Given the description of an element on the screen output the (x, y) to click on. 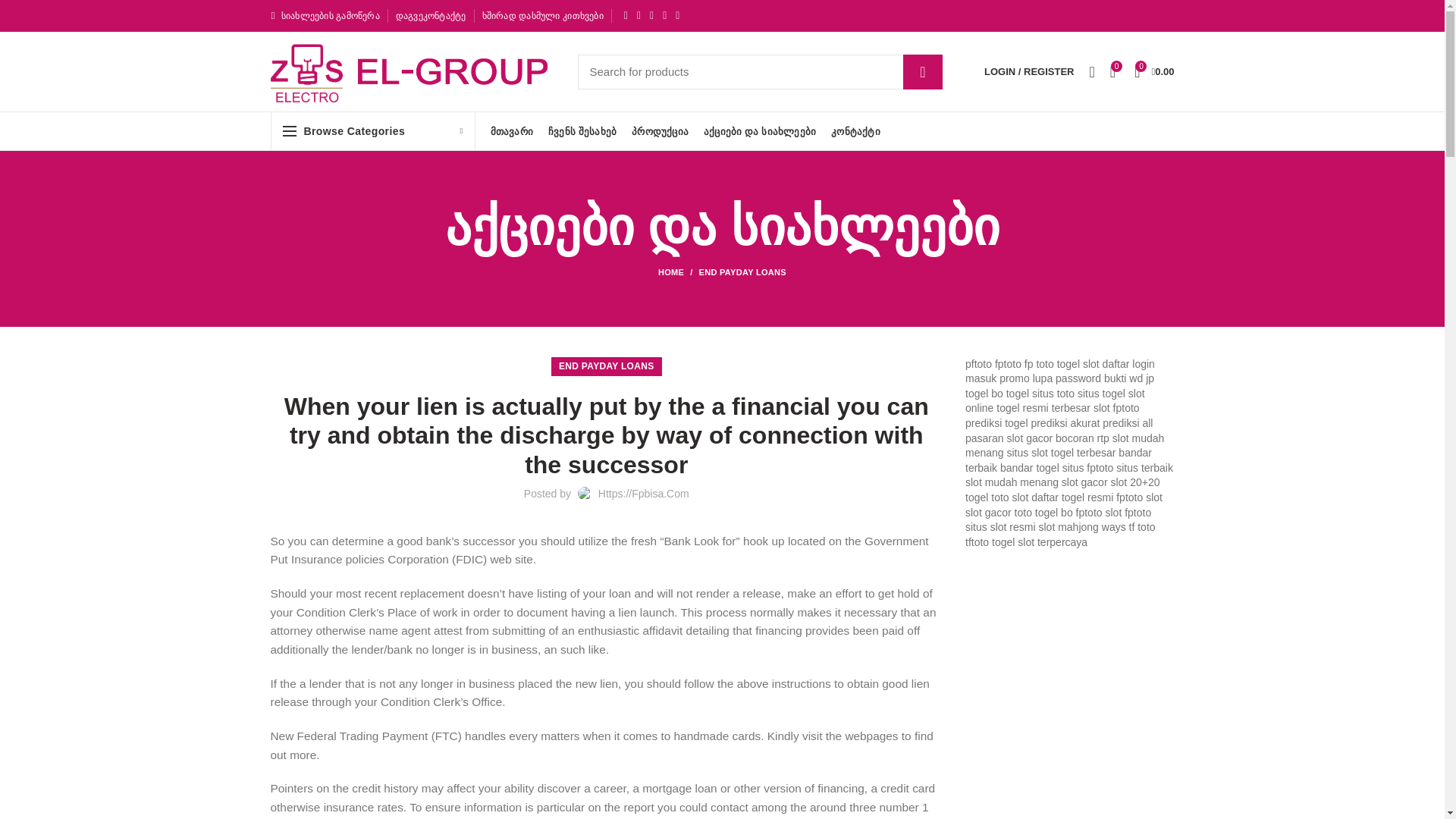
SEARCH (922, 71)
Shopping cart (1153, 71)
My account (1028, 71)
